Given the description of an element on the screen output the (x, y) to click on. 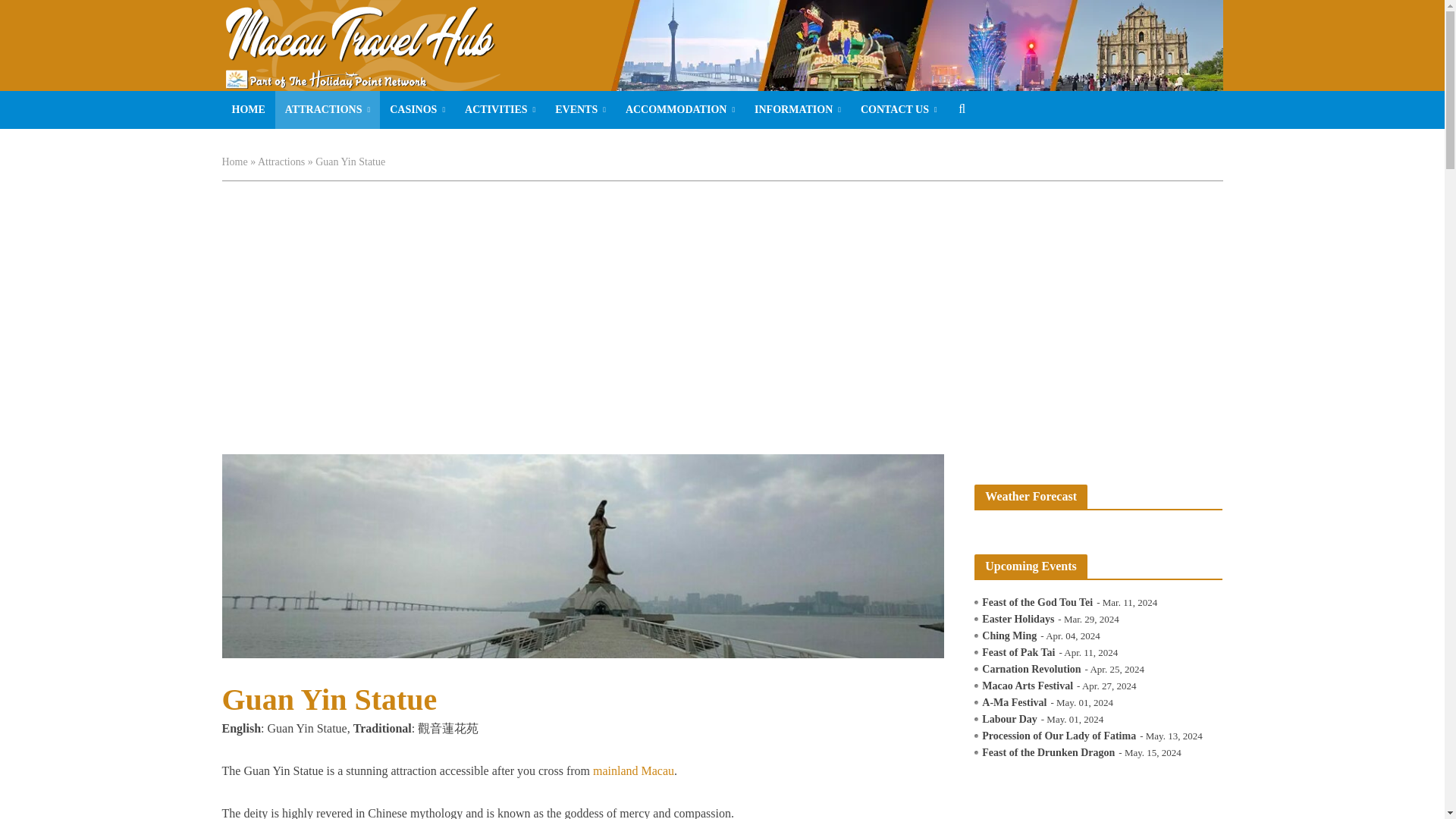
HOME (248, 109)
CASINOS (417, 109)
ATTRACTIONS (327, 109)
